Given the description of an element on the screen output the (x, y) to click on. 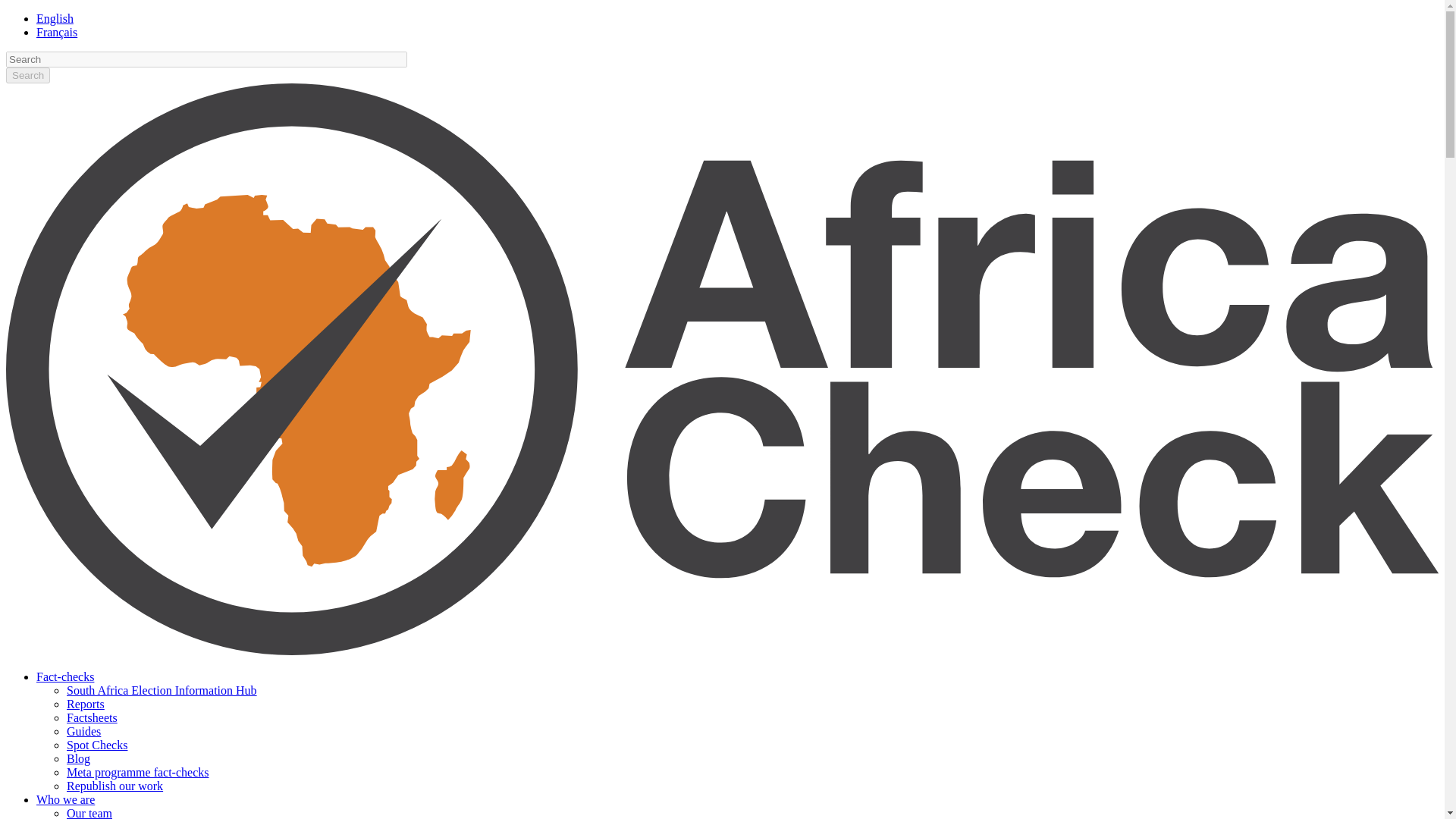
Fact-checks (65, 676)
Republish our work (114, 785)
Guides (83, 730)
Blog (78, 758)
Spot Checks (97, 744)
Reports (85, 703)
Meta programme fact-checks (137, 771)
Search (27, 75)
Search (27, 75)
Who we are (65, 799)
Our team (89, 812)
South Africa Election Information Hub (161, 689)
English (55, 18)
Factsheets (91, 717)
